Given the description of an element on the screen output the (x, y) to click on. 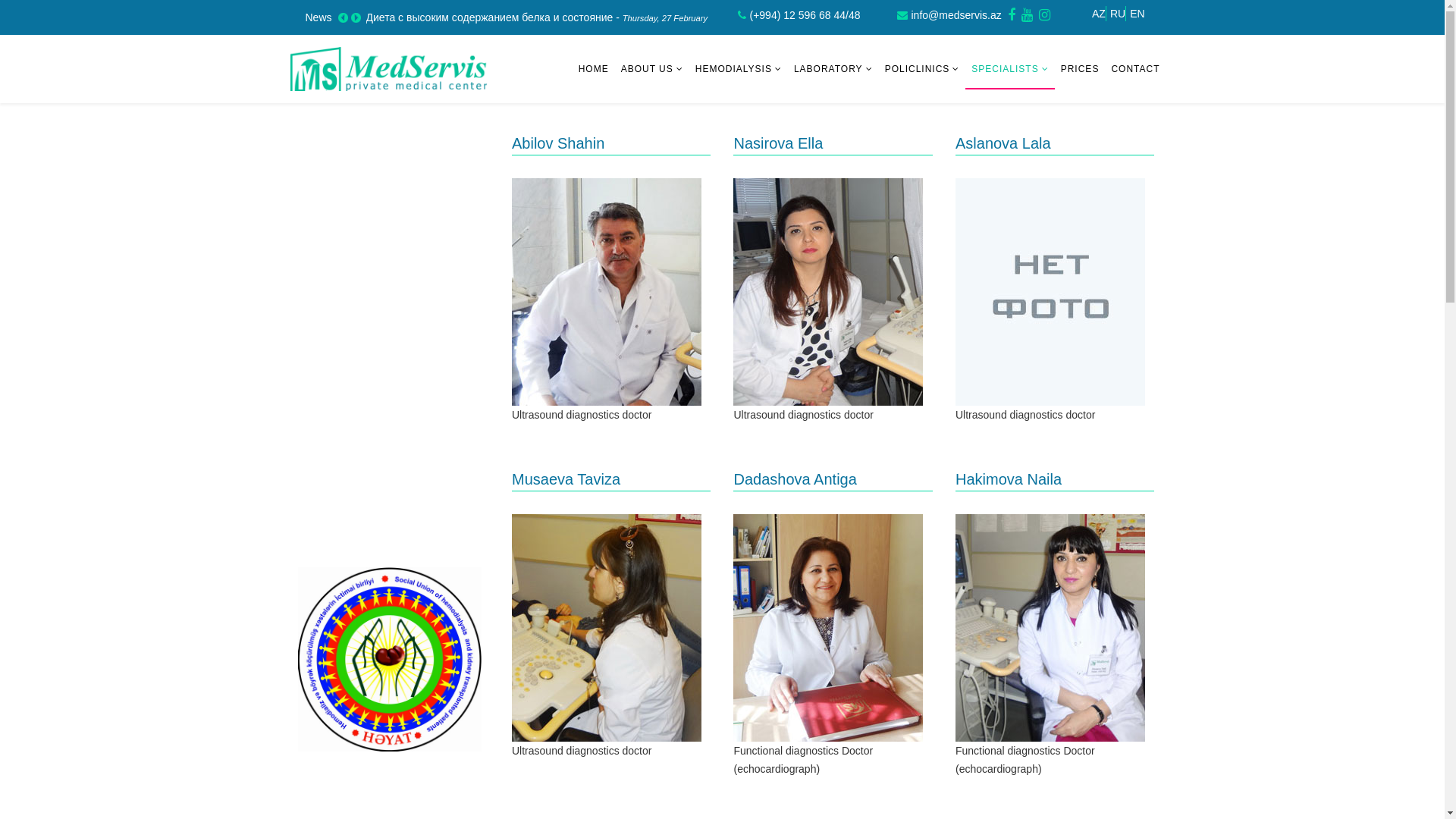
RU Element type: text (1118, 13)
SPECIALISTS Element type: text (1009, 69)
info@medservis.az Element type: text (956, 15)
AZ Element type: text (1099, 13)
Hakimova Naila Element type: text (1054, 478)
HEMODIALYSIS Element type: text (738, 68)
EN Element type: text (1136, 13)
Musaeva Taviza Element type: text (610, 478)
Aslanova Lala Element type: text (1054, 142)
POLICLINICS Element type: text (922, 68)
Dadashova Antiga Element type: text (832, 478)
ABOUT US Element type: text (652, 68)
CONTACT Element type: text (1134, 68)
Nasirova Ella Element type: text (832, 142)
PRICES Element type: text (1079, 68)
HOME Element type: text (593, 68)
Abilov Shahin Element type: text (610, 142)
LABORATORY Element type: text (832, 68)
